Given the description of an element on the screen output the (x, y) to click on. 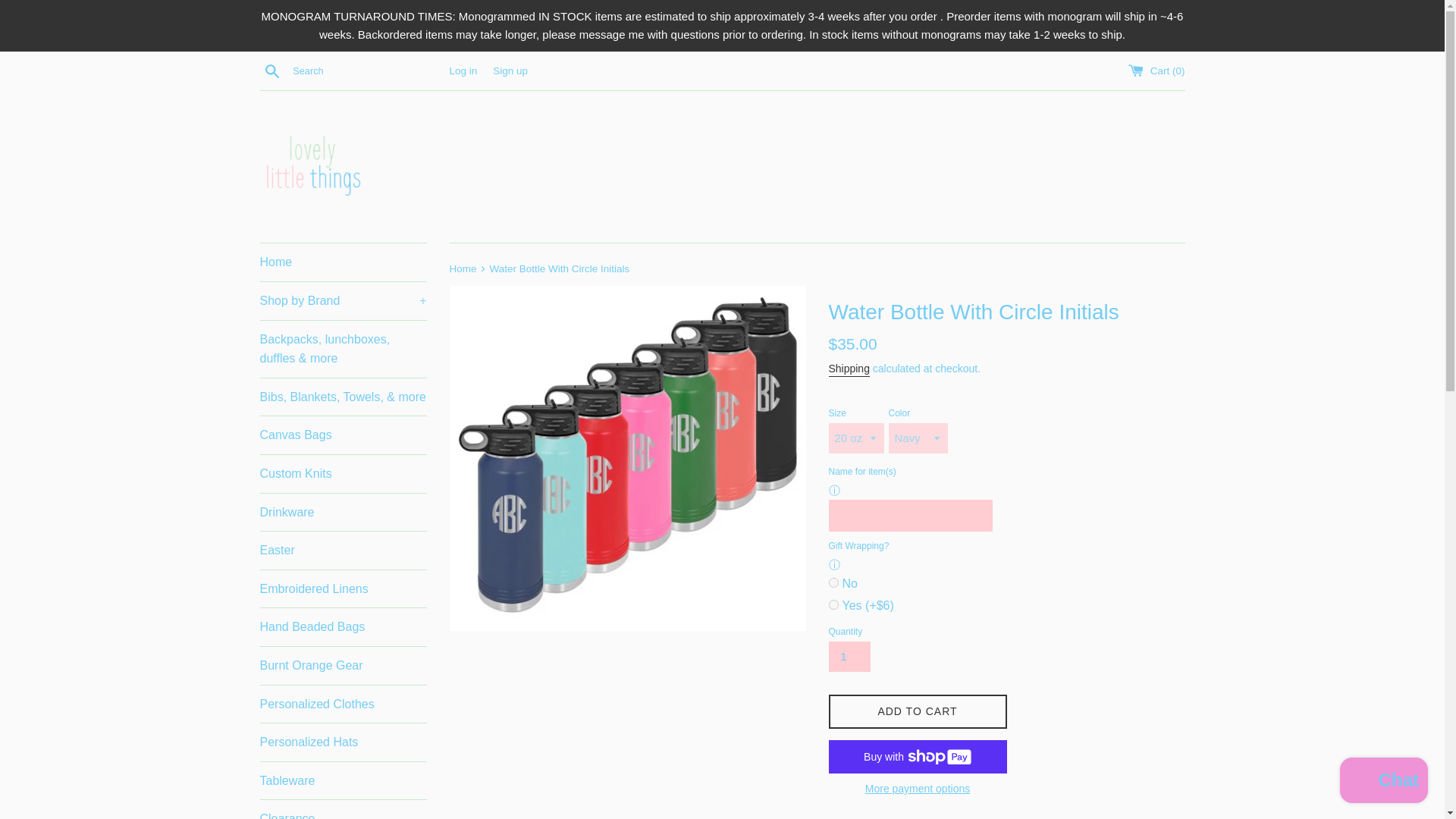
Canvas Bags (342, 435)
Back to the frontpage (463, 268)
Hand Beaded Bags (342, 627)
Custom Knits (342, 474)
Burnt Orange Gear (342, 665)
Tableware (342, 781)
Drinkware (342, 512)
Search (271, 70)
Embroidered Linens (342, 589)
Sign up (510, 70)
